Given the description of an element on the screen output the (x, y) to click on. 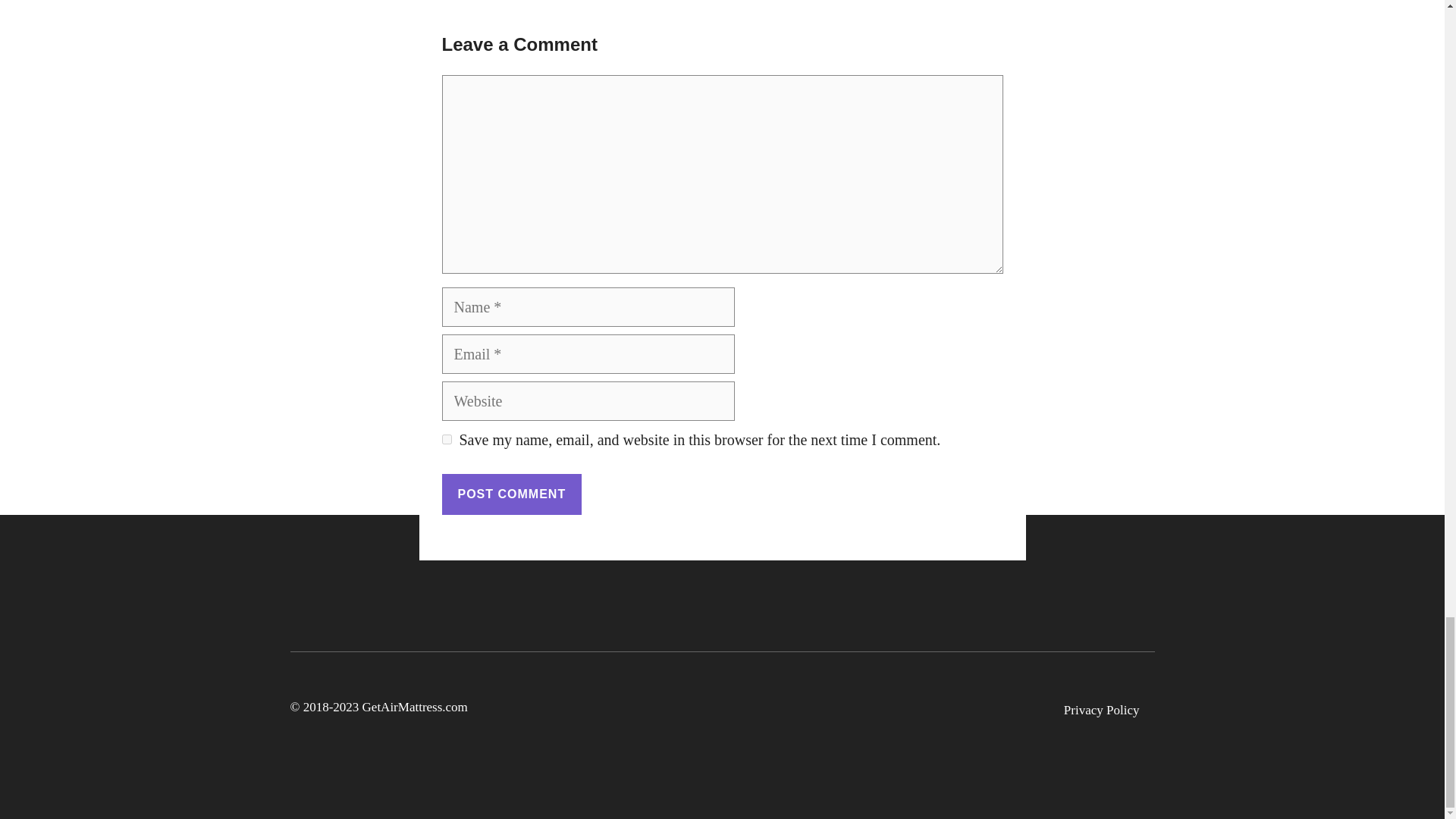
Post Comment (510, 494)
yes (446, 439)
Post Comment (510, 494)
Privacy Policy (1102, 710)
